Given the description of an element on the screen output the (x, y) to click on. 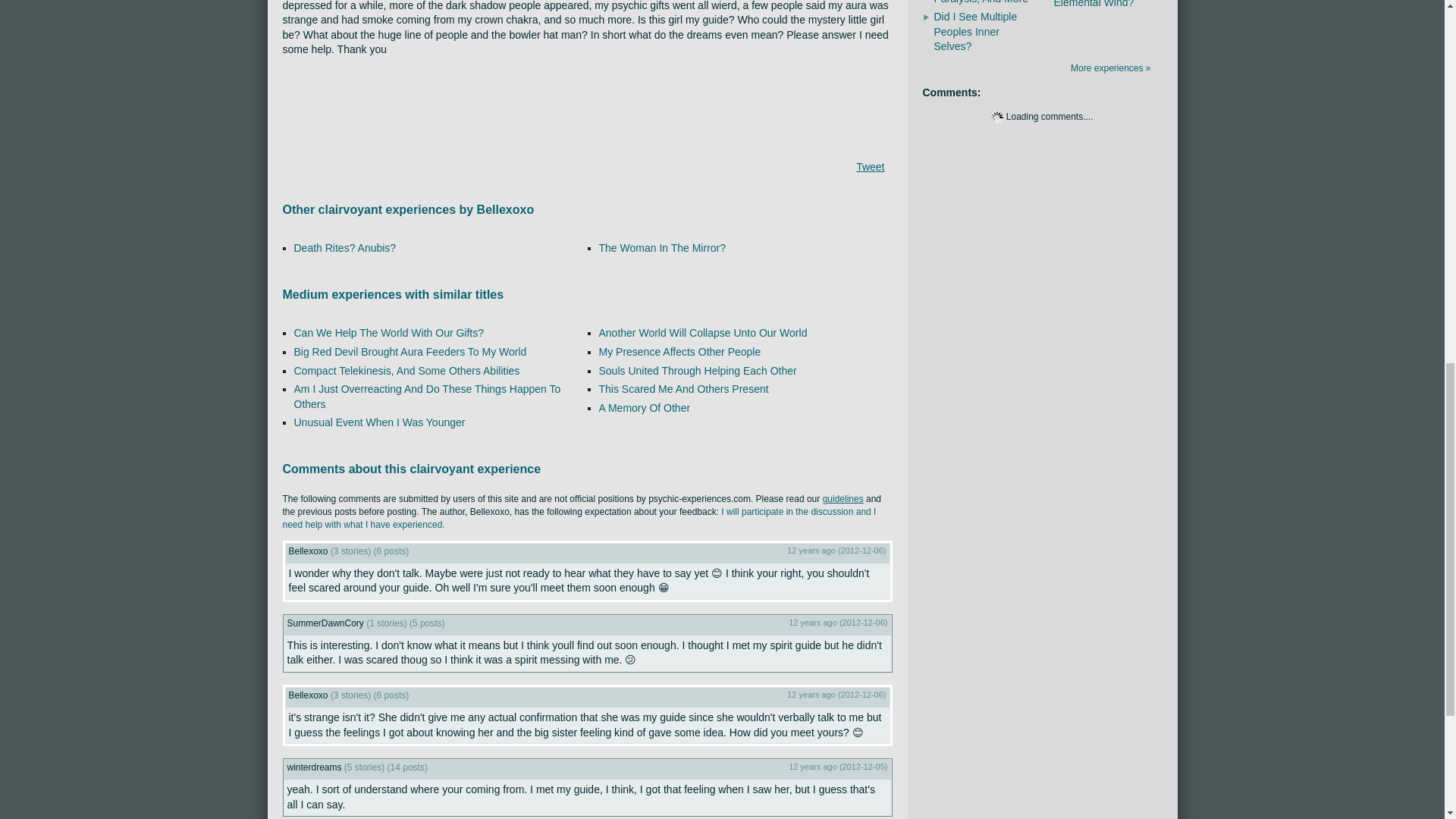
Compact Telekinesis, And Some Others Abilities (406, 369)
Death Rites? Anubis? (345, 247)
My Presence Affects Other People (679, 351)
Am I Just Overreacting And Do These Things Happen To Others (427, 396)
Can We Help The World With Our Gifts? (389, 332)
This Scared Me And Others Present (683, 388)
Unusual Event When I Was Younger (379, 422)
The Woman In The Mirror? (662, 247)
Another World Will Collapse Unto Our World (703, 332)
Souls United Through Helping Each Other (697, 369)
